Given the description of an element on the screen output the (x, y) to click on. 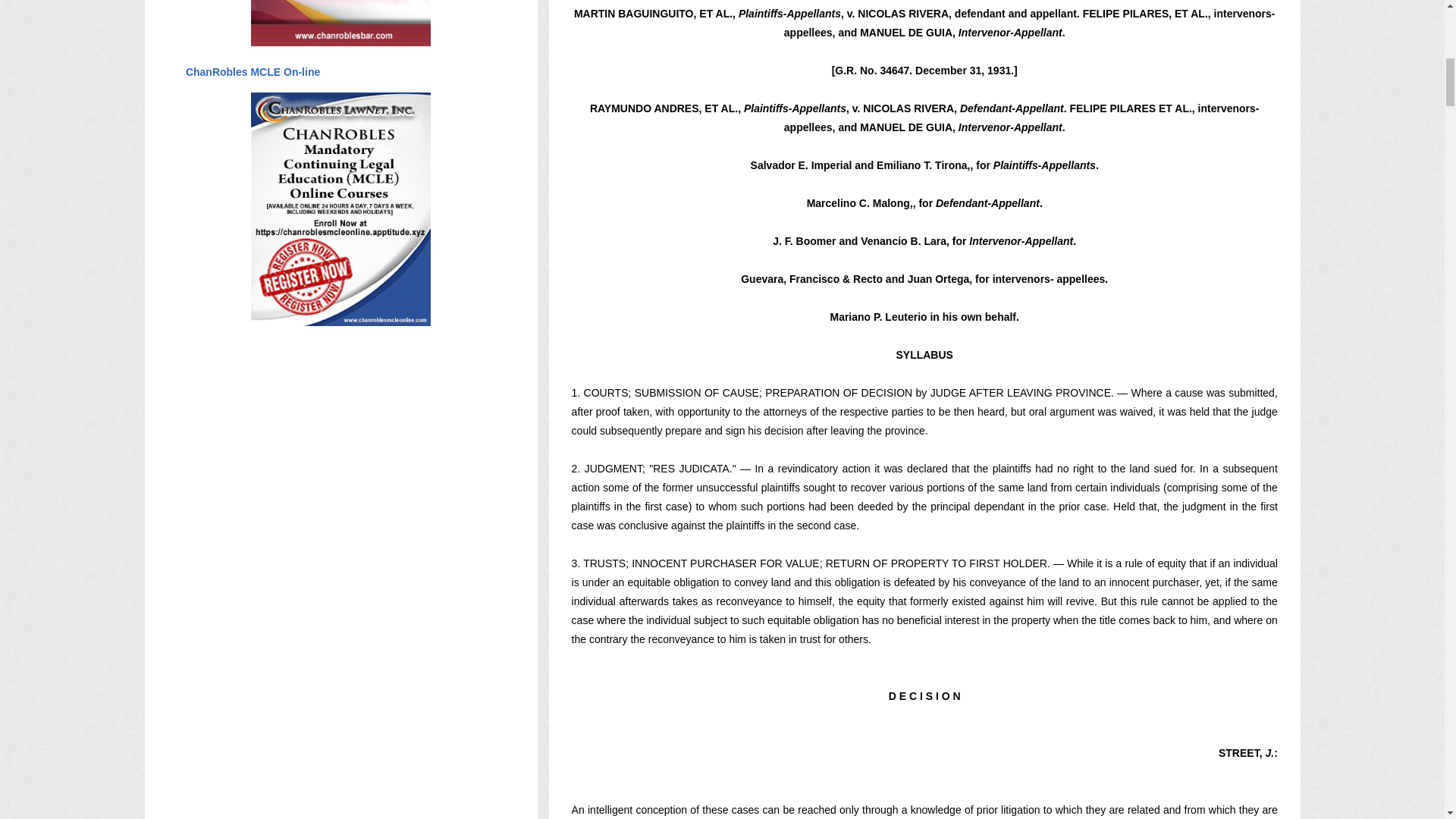
ChanRobles MCLE On-line (252, 71)
